Given the description of an element on the screen output the (x, y) to click on. 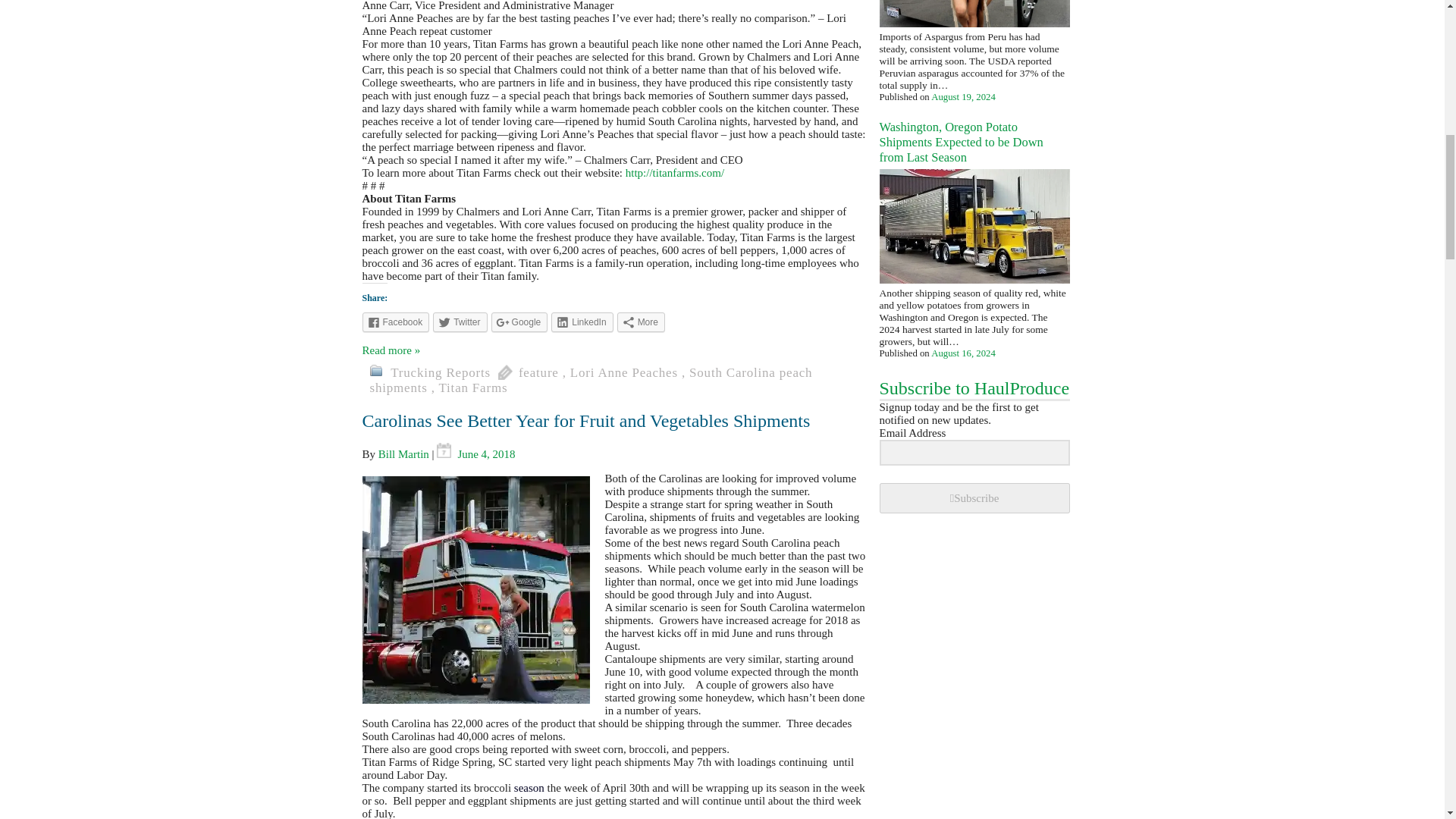
August 19, 2024 (963, 96)
